Given the description of an element on the screen output the (x, y) to click on. 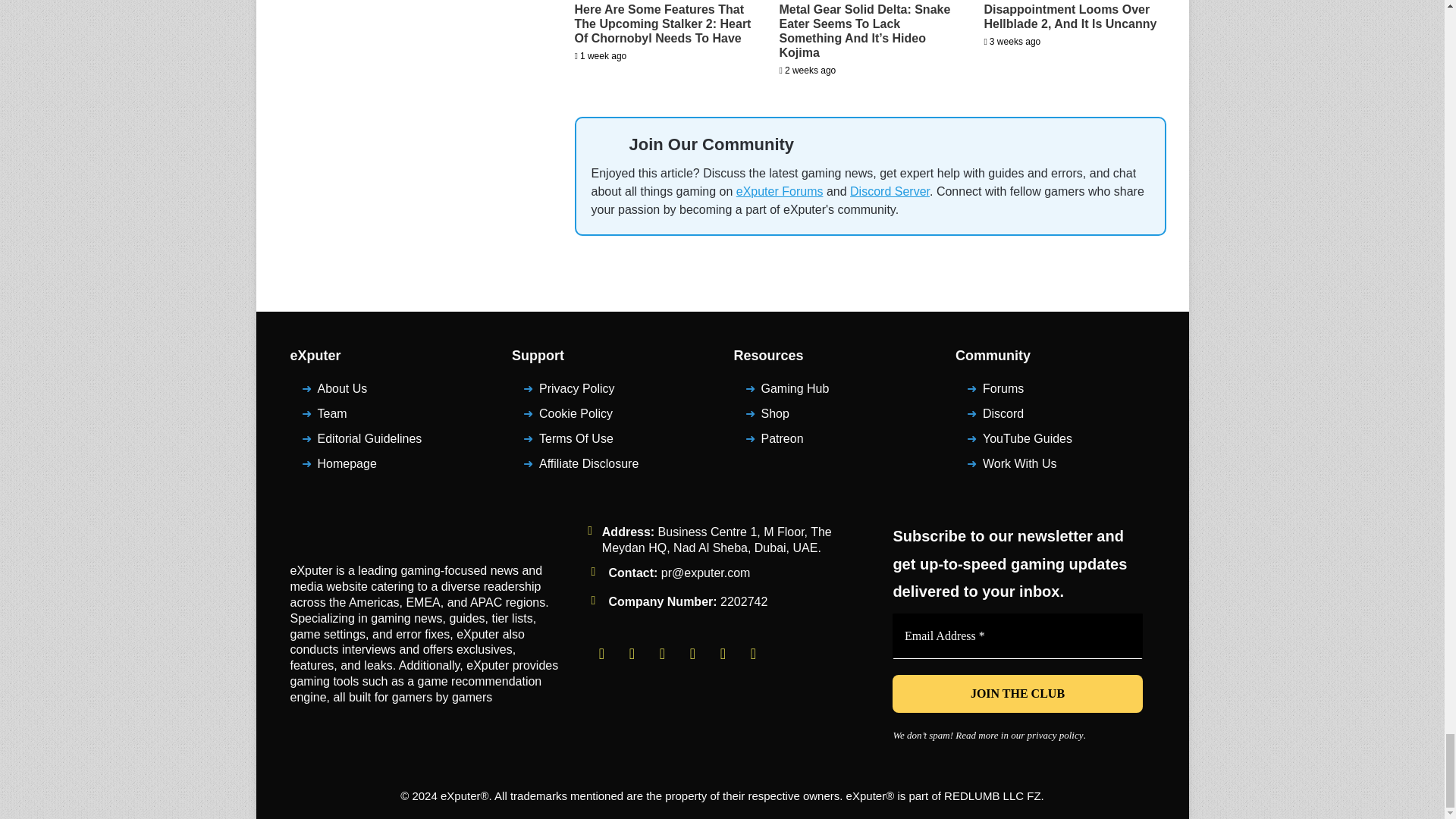
Email Address (1017, 636)
JOIN THE  CLUB (1017, 693)
